Given the description of an element on the screen output the (x, y) to click on. 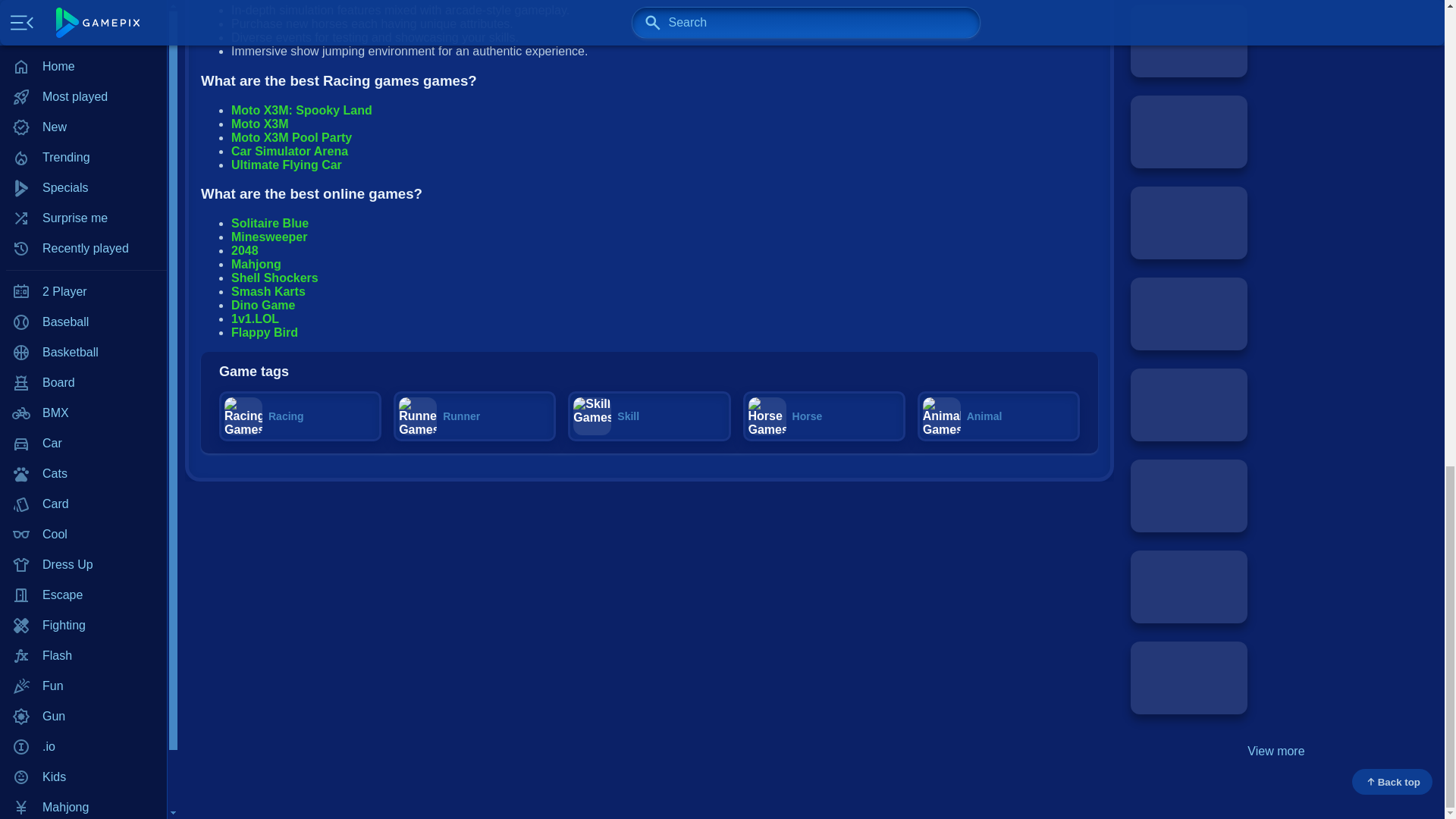
Snake (83, 2)
Zombie (83, 110)
War (83, 49)
Word (83, 79)
Soccer (83, 19)
